Given the description of an element on the screen output the (x, y) to click on. 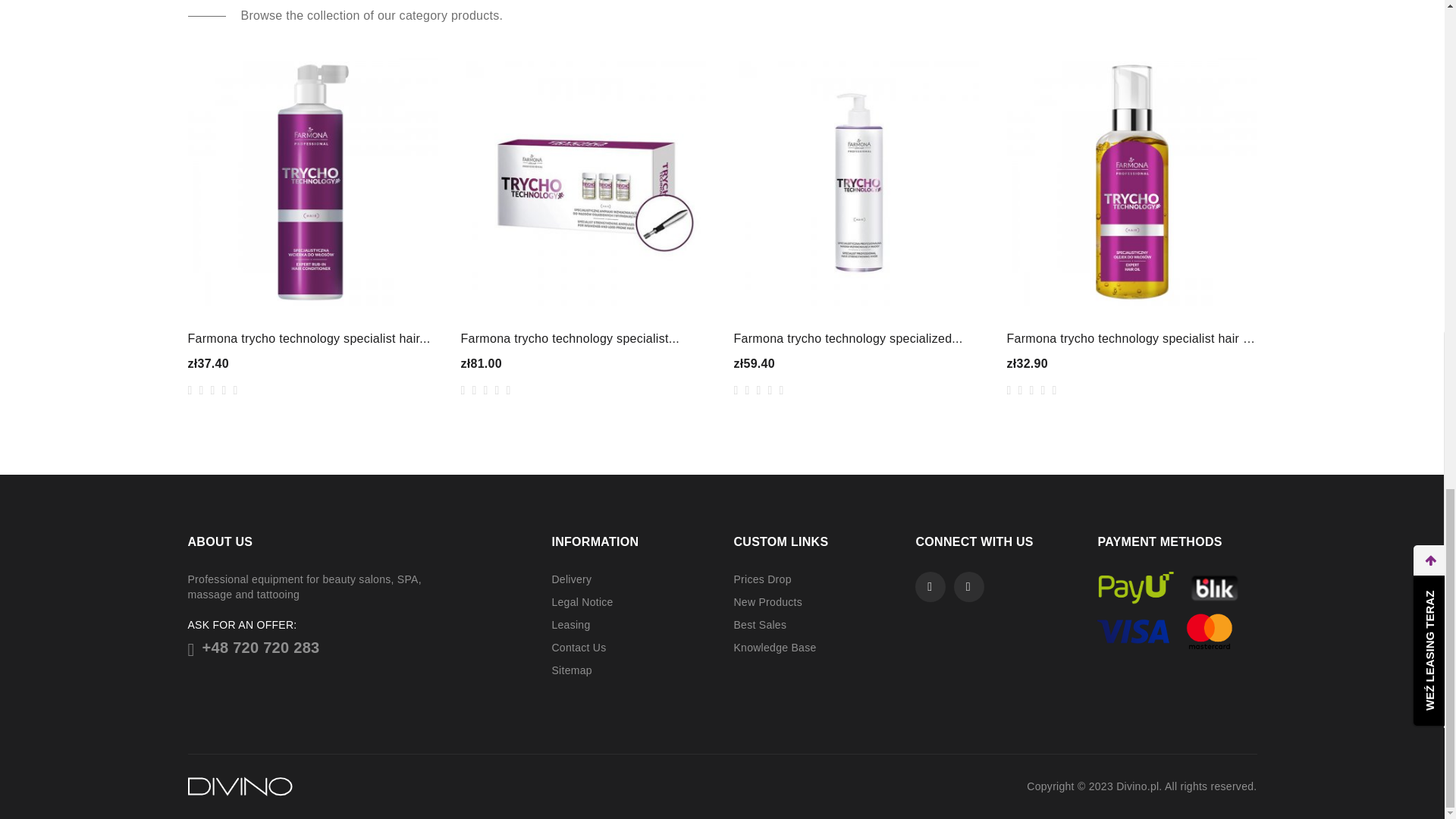
Farmona trycho technology specialist hair lotion 200 ml (312, 338)
